Given the description of an element on the screen output the (x, y) to click on. 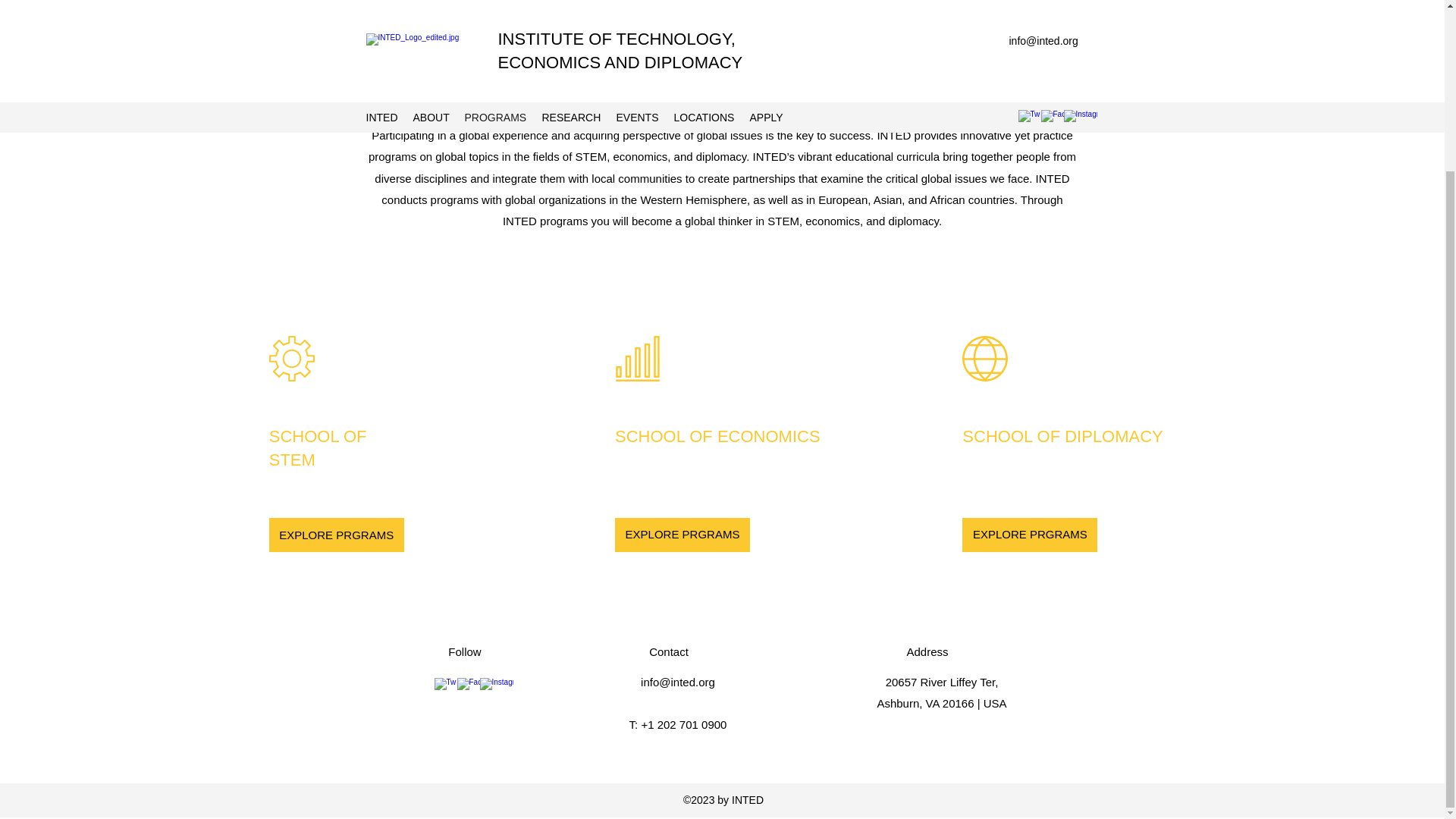
EXPLORE PRGRAMS (1029, 534)
EXPLORE PRGRAMS (336, 534)
EXPLORE PRGRAMS (681, 534)
